Given the description of an element on the screen output the (x, y) to click on. 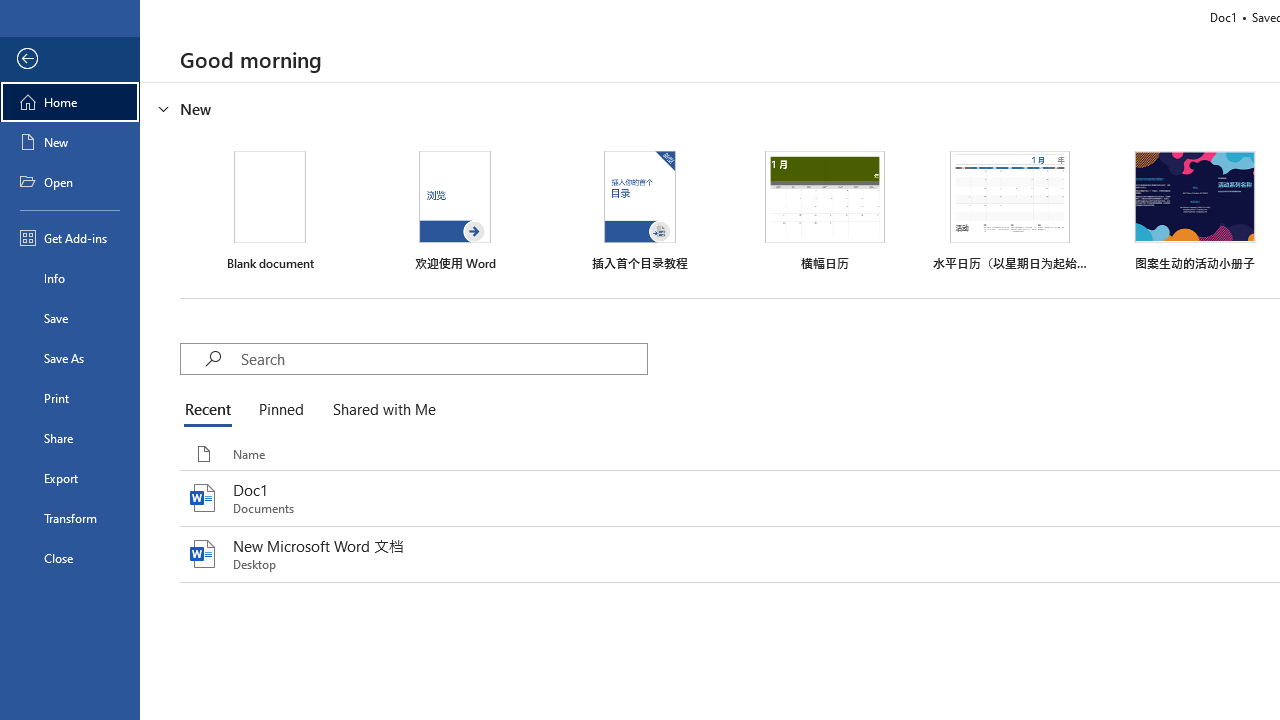
Export (69, 477)
Shared with Me (379, 410)
Print (69, 398)
New (69, 141)
Back (69, 59)
Pinned (280, 410)
Blank document (269, 211)
Info (69, 277)
Transform (69, 517)
